Given the description of an element on the screen output the (x, y) to click on. 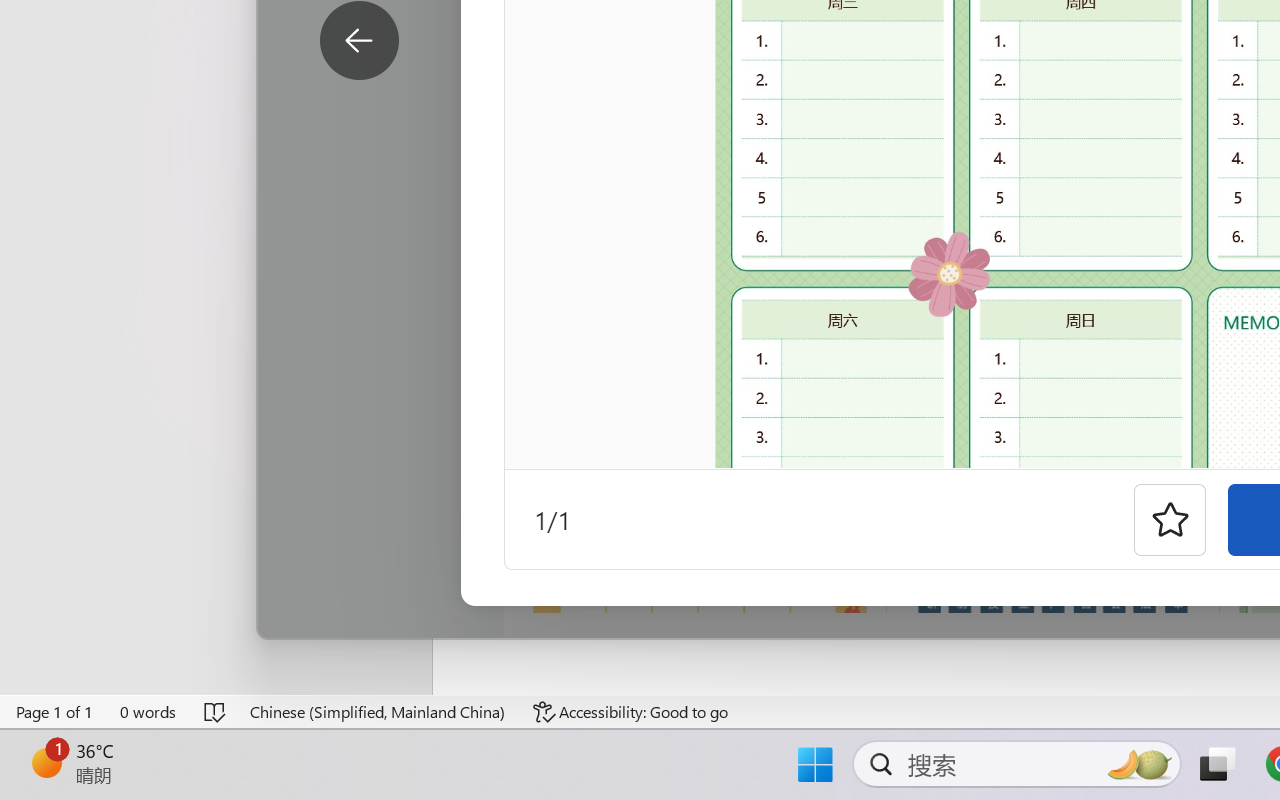
Language Chinese (Simplified, Mainland China) (378, 712)
